Given the description of an element on the screen output the (x, y) to click on. 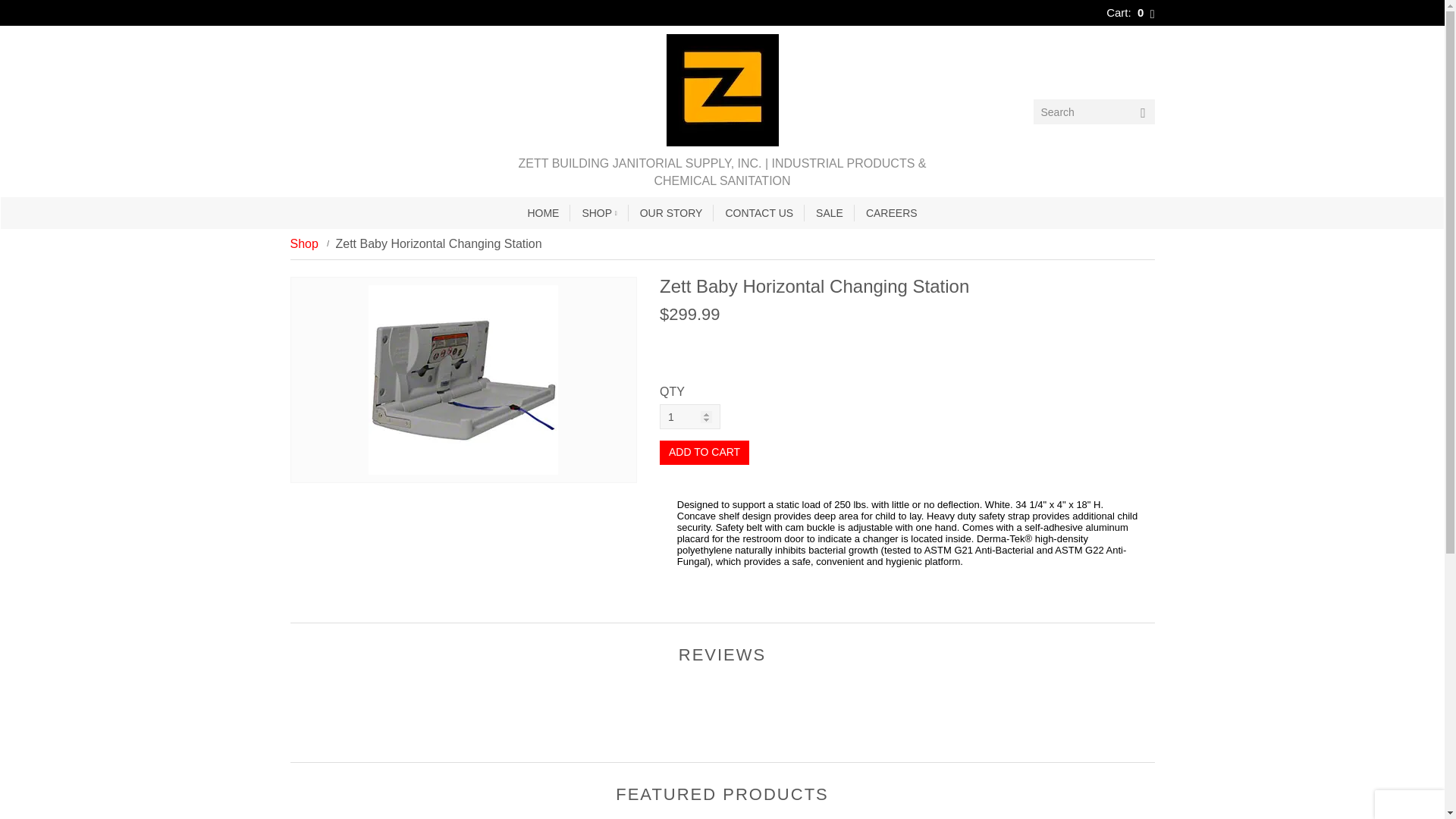
HOME (542, 213)
SHOP (598, 213)
Cart:  0   (1130, 11)
Add to Cart (704, 452)
1 (689, 416)
